Given the description of an element on the screen output the (x, y) to click on. 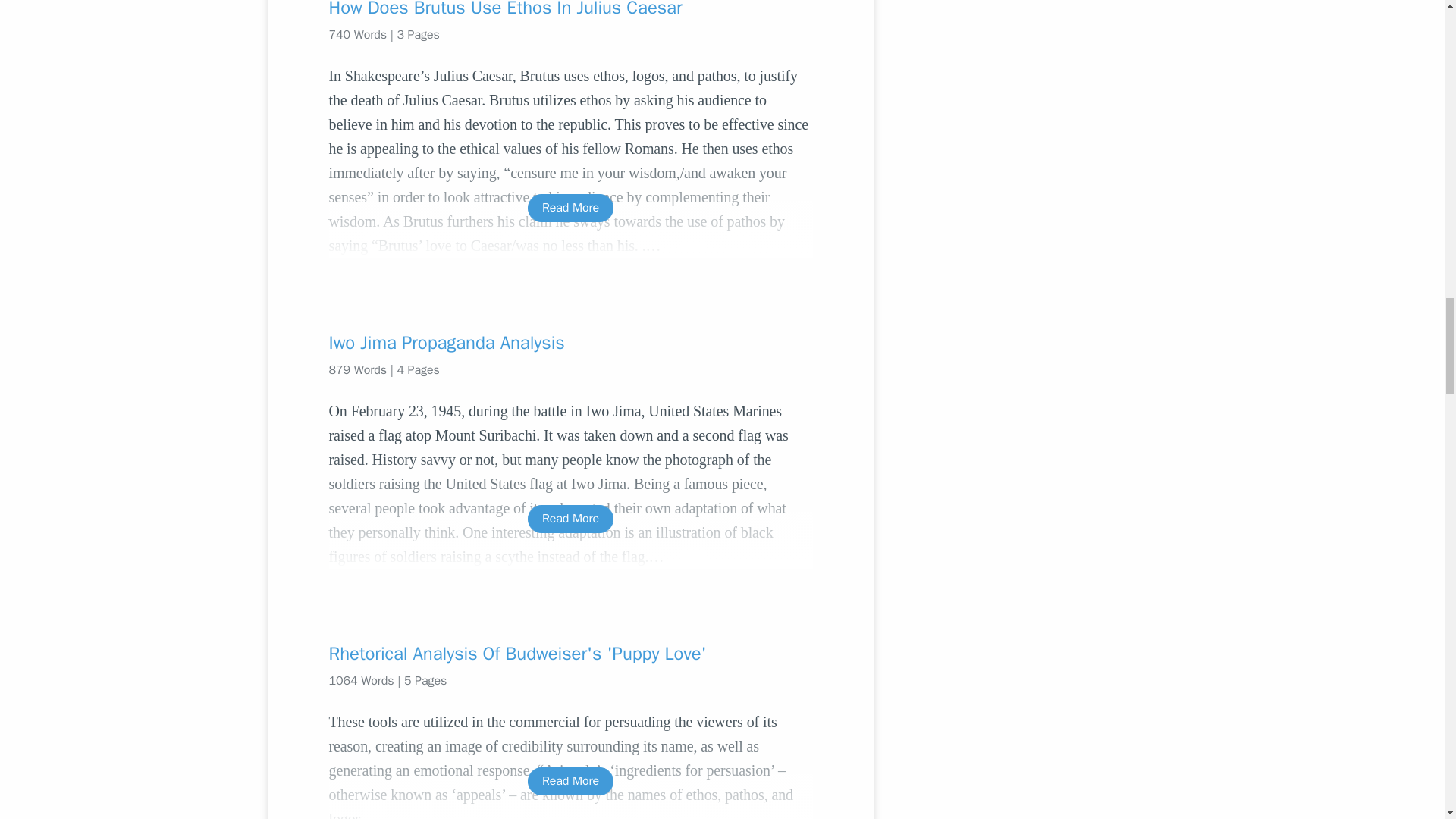
Read More (569, 519)
Iwo Jima Propaganda Analysis (570, 342)
Read More (569, 781)
Rhetorical Analysis Of Budweiser's 'Puppy Love' (570, 653)
Read More (569, 207)
How Does Brutus Use Ethos In Julius Caesar (570, 9)
